Given the description of an element on the screen output the (x, y) to click on. 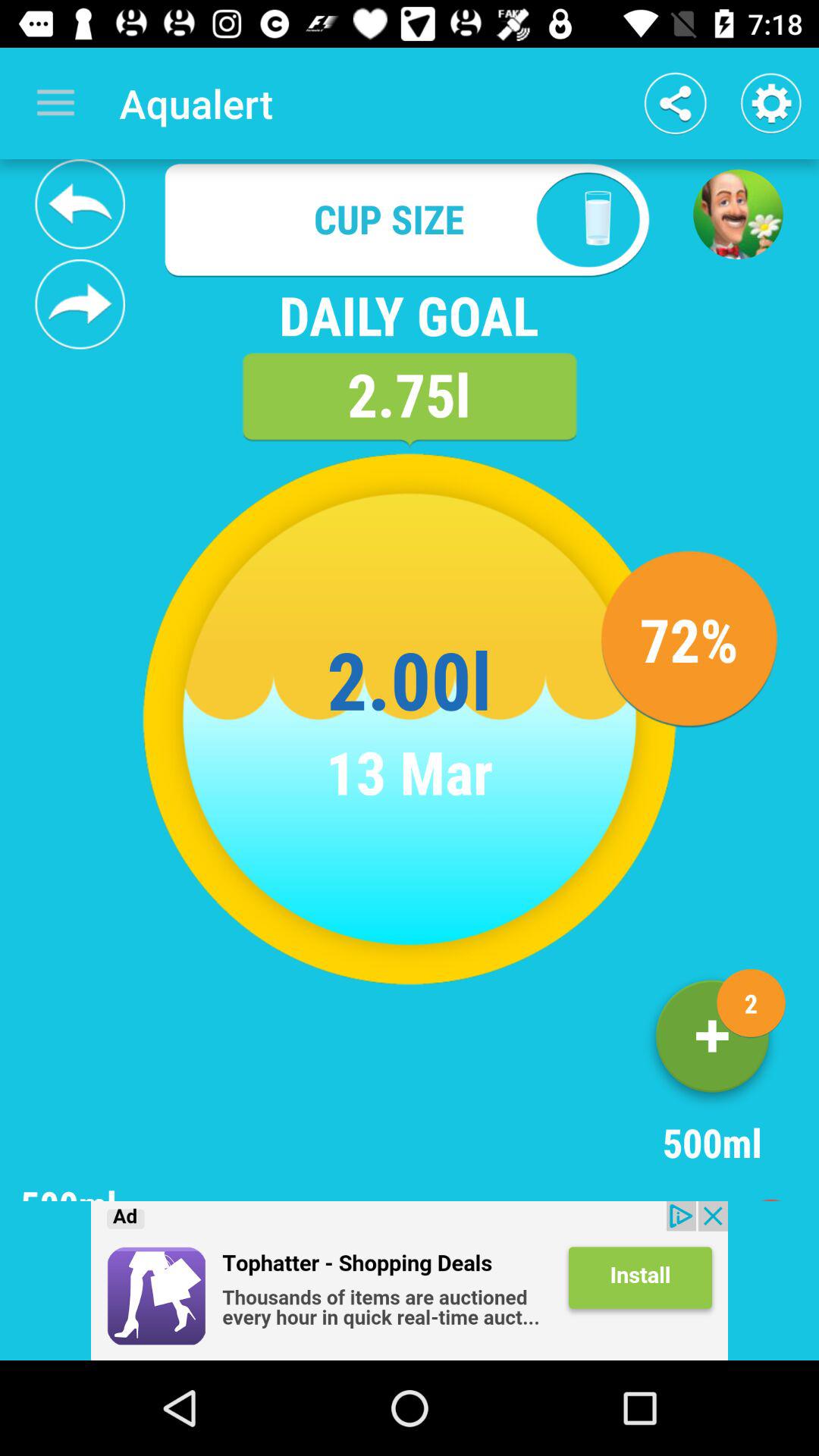
advertisement link (409, 1280)
